Given the description of an element on the screen output the (x, y) to click on. 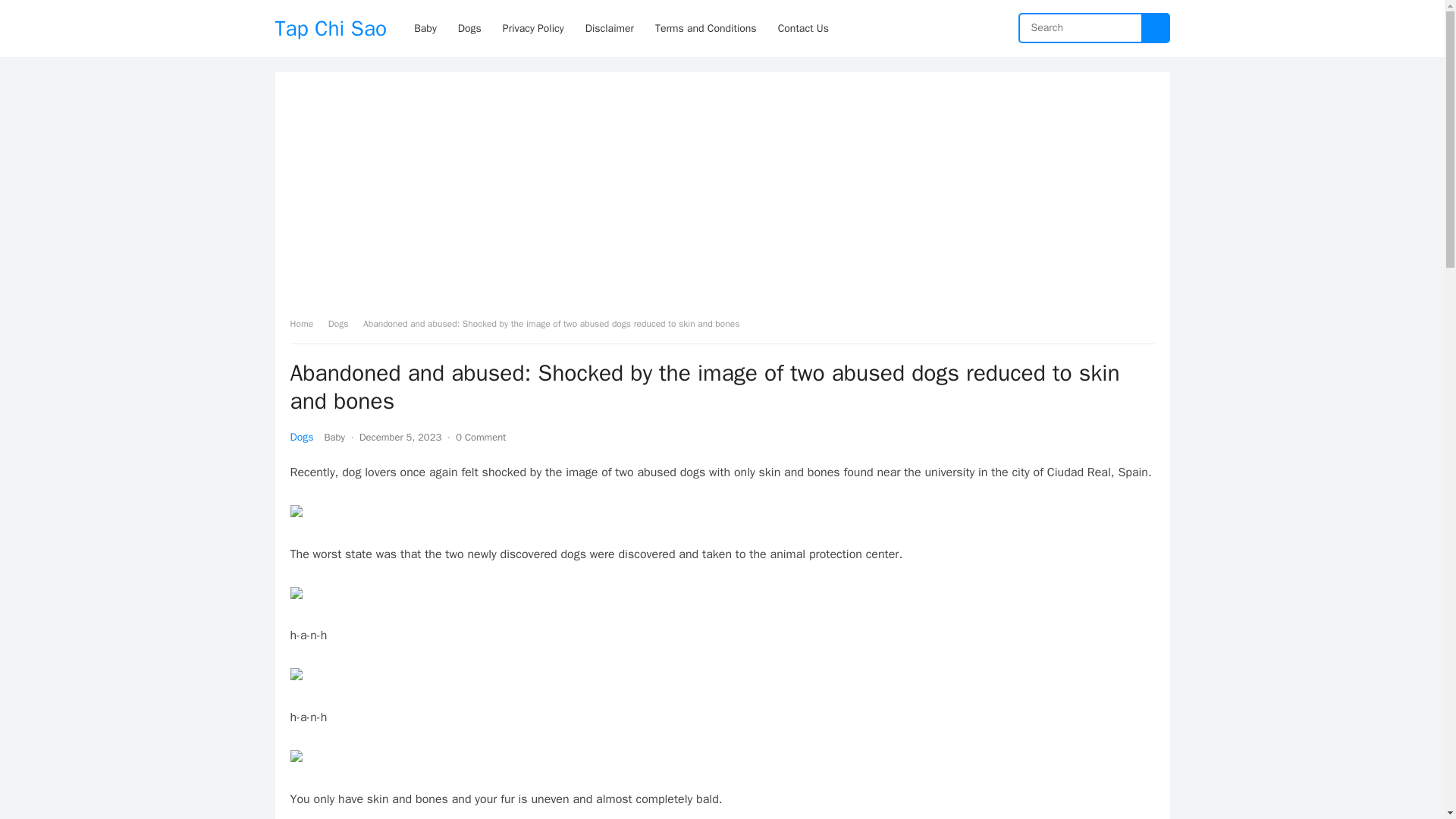
Terms and Conditions (705, 28)
Posts by Baby (334, 436)
Baby (334, 436)
0 Comment (480, 436)
Home (306, 323)
Tap Chi Sao (331, 28)
Disclaimer (609, 28)
Dogs (301, 436)
Contact Us (803, 28)
Privacy Policy (533, 28)
Dogs (344, 323)
